Given the description of an element on the screen output the (x, y) to click on. 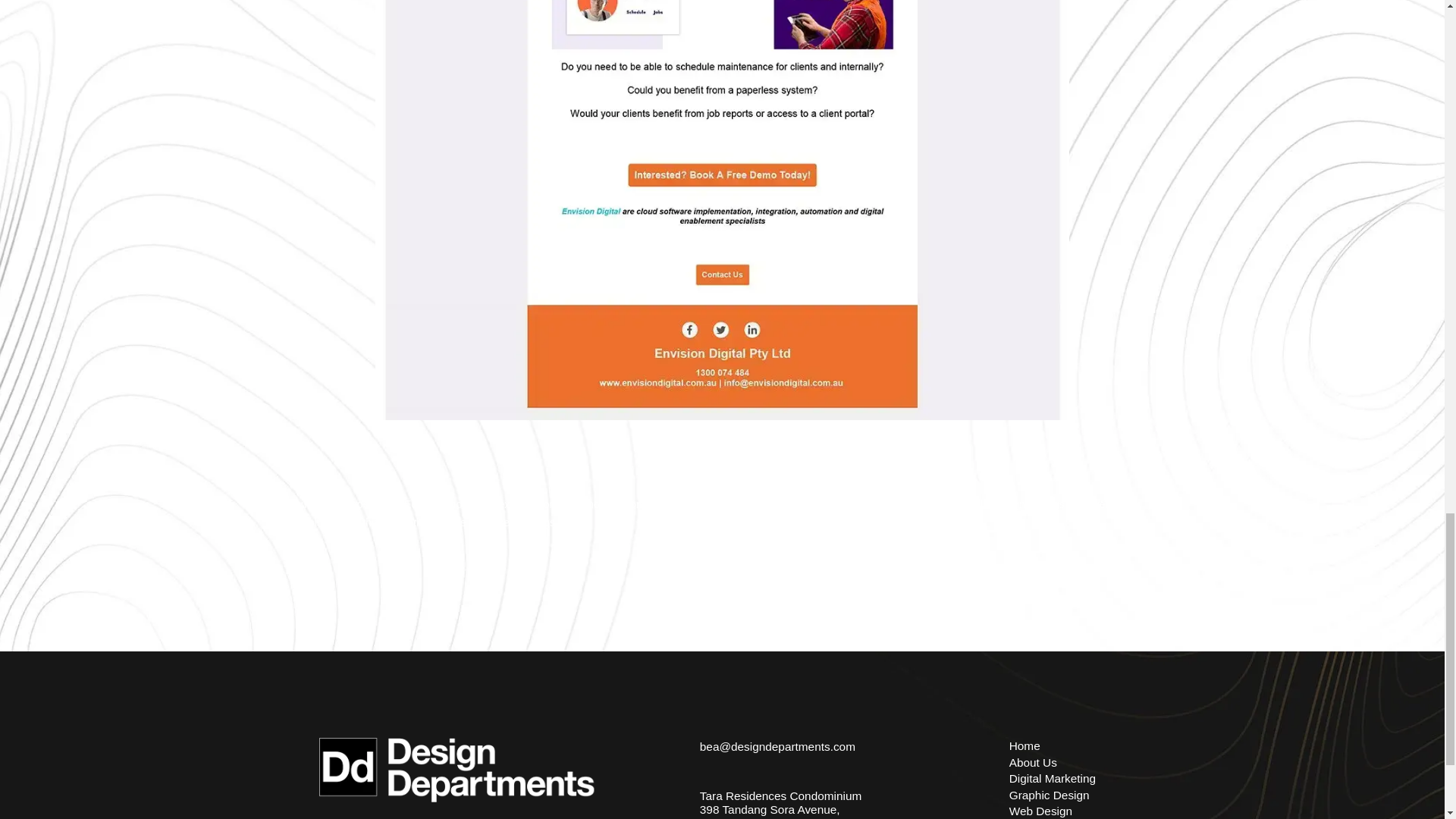
Logo We Create We Transform (464, 778)
